Given the description of an element on the screen output the (x, y) to click on. 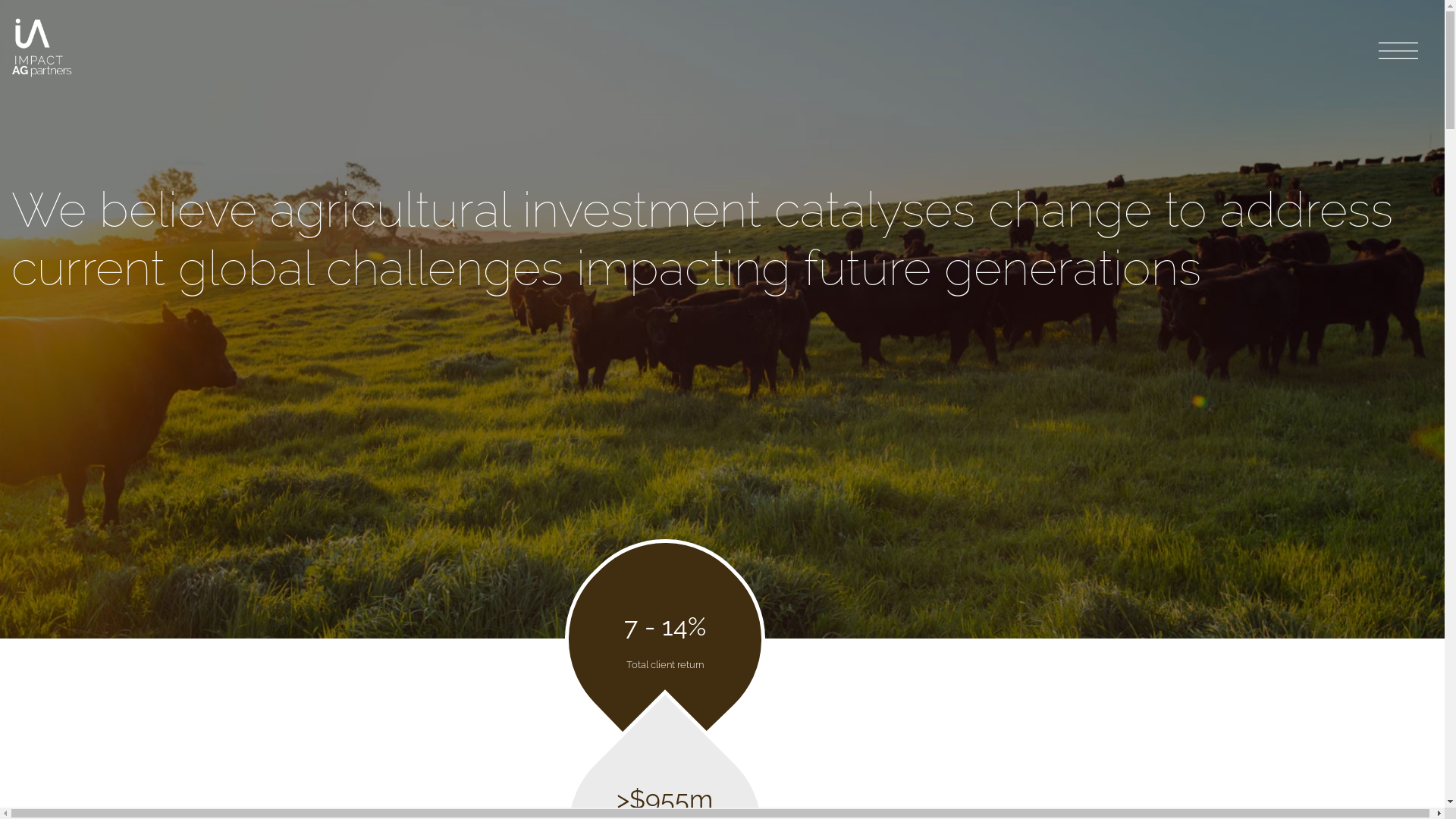
7 - 14%
Total client return Element type: text (664, 635)
